Given the description of an element on the screen output the (x, y) to click on. 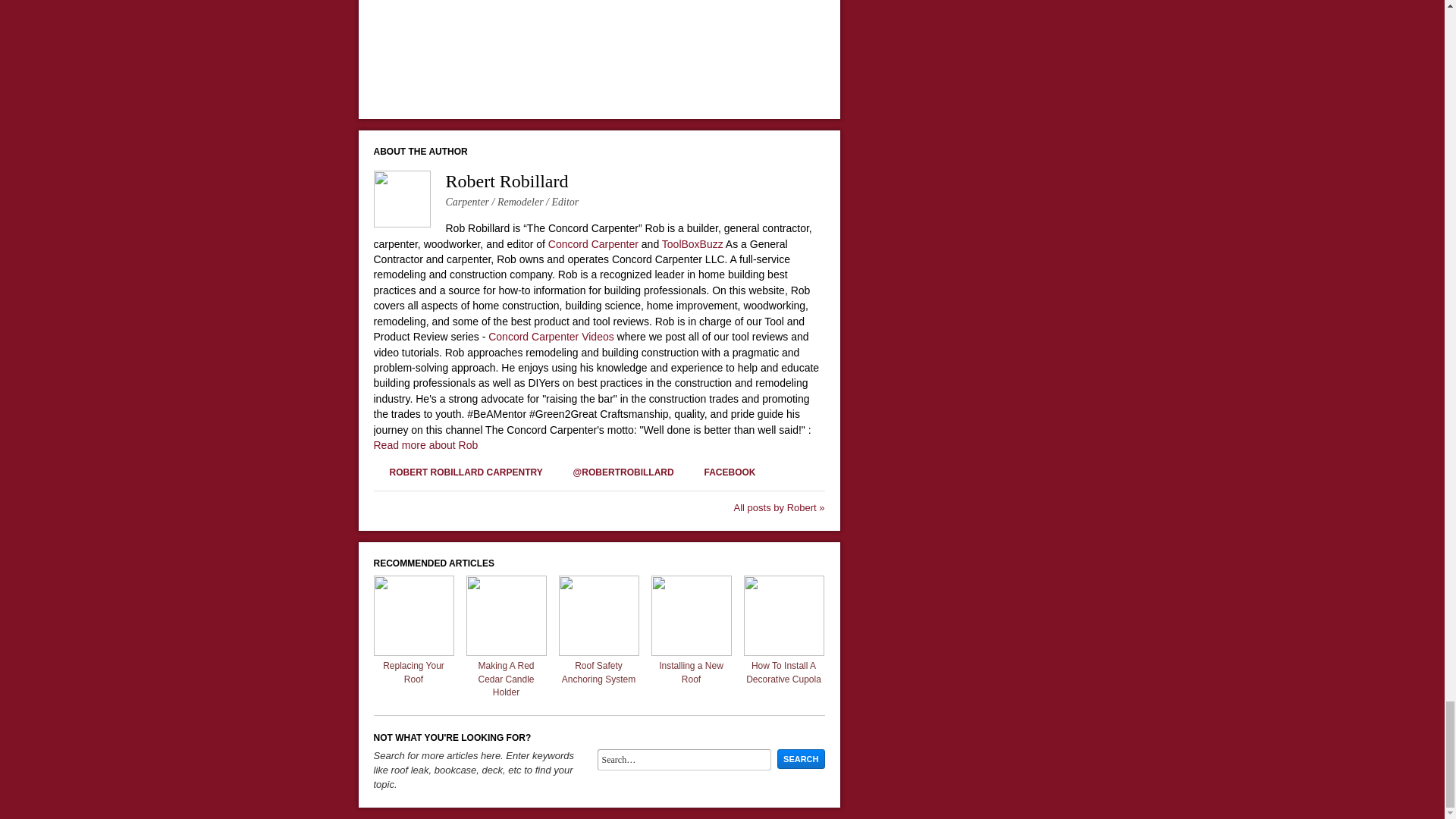
Making A Red Cedar Candle Holder (505, 652)
Roof Safety Anchoring System (598, 652)
Search (800, 759)
Installing a New Roof (690, 652)
How To Install A Decorative Cupola (783, 652)
Replacing Your Roof (412, 652)
